Given the description of an element on the screen output the (x, y) to click on. 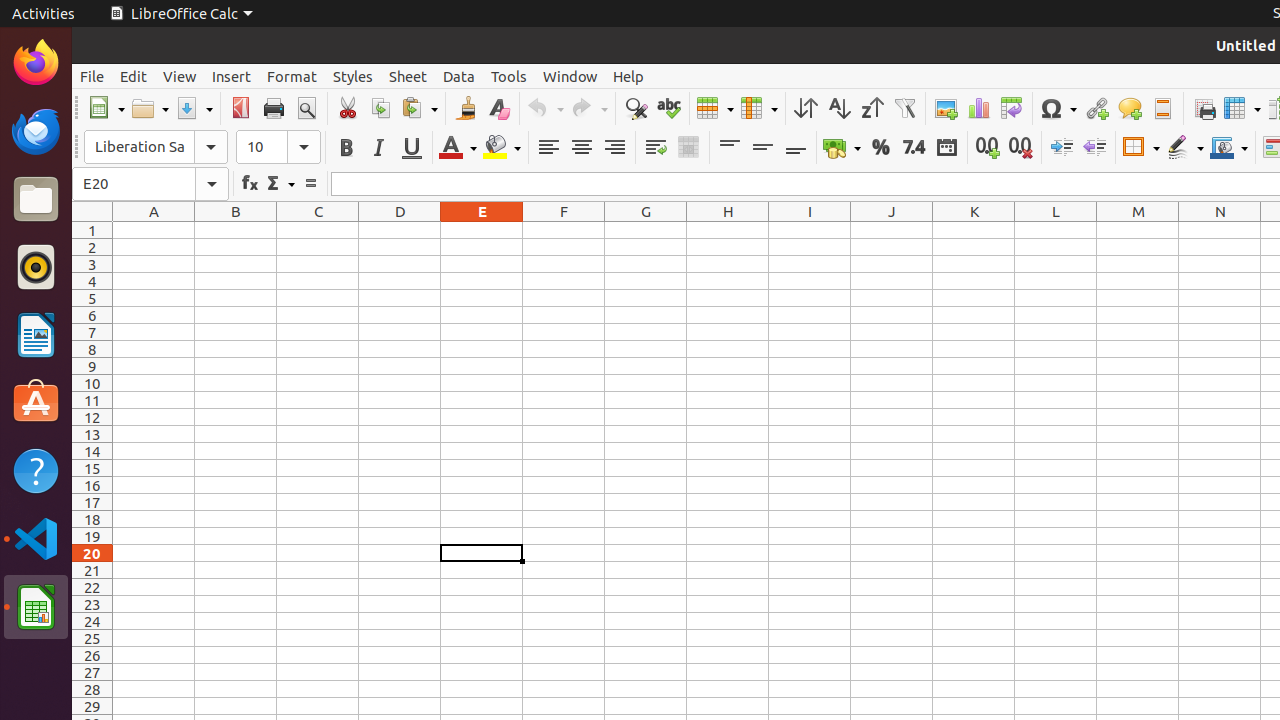
Undo Element type: push-button (545, 108)
Ubuntu Software Element type: push-button (36, 402)
Column Element type: push-button (759, 108)
Clone Element type: push-button (465, 108)
Visual Studio Code Element type: push-button (36, 538)
